Given the description of an element on the screen output the (x, y) to click on. 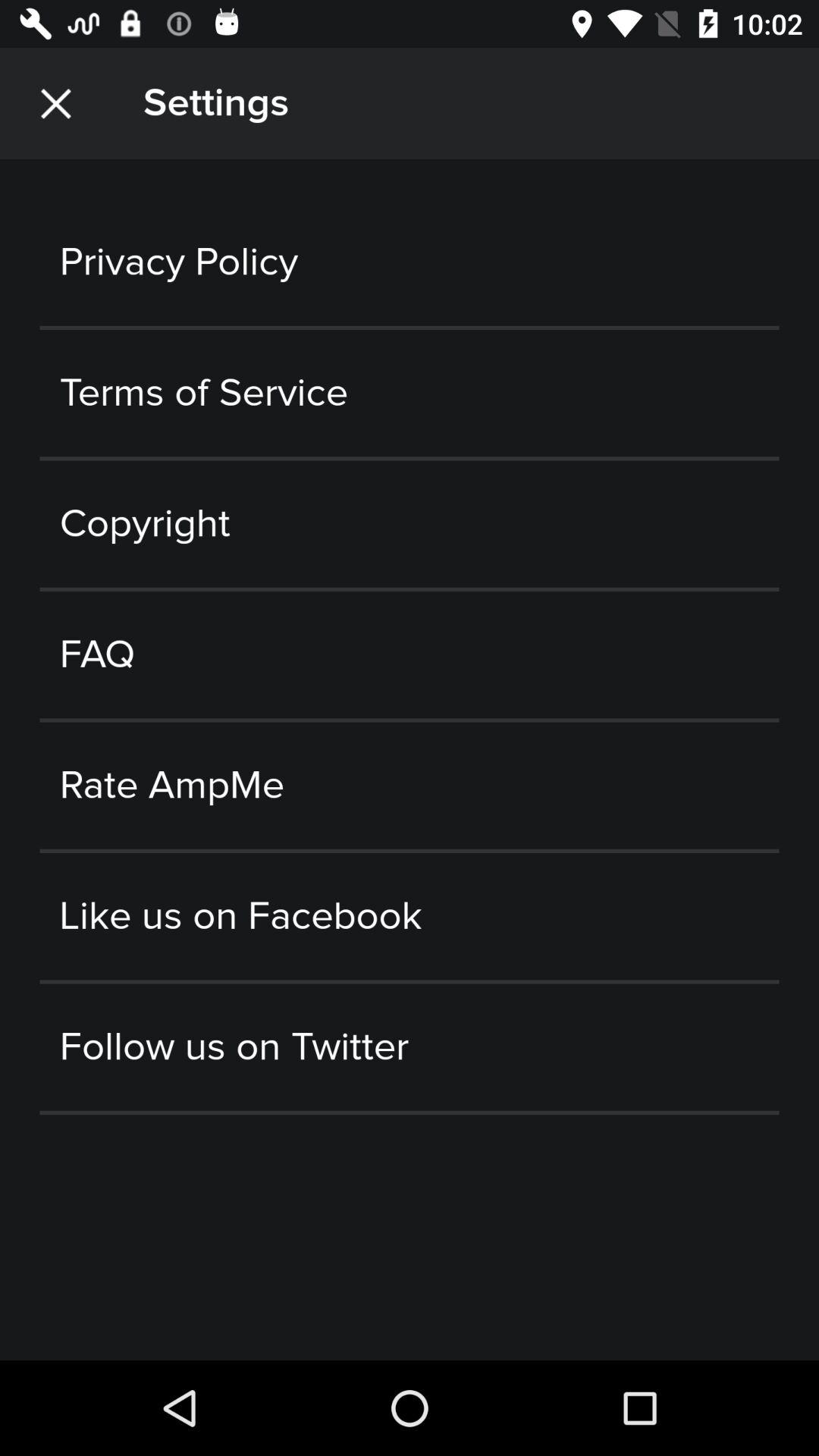
turn on faq item (409, 654)
